Given the description of an element on the screen output the (x, y) to click on. 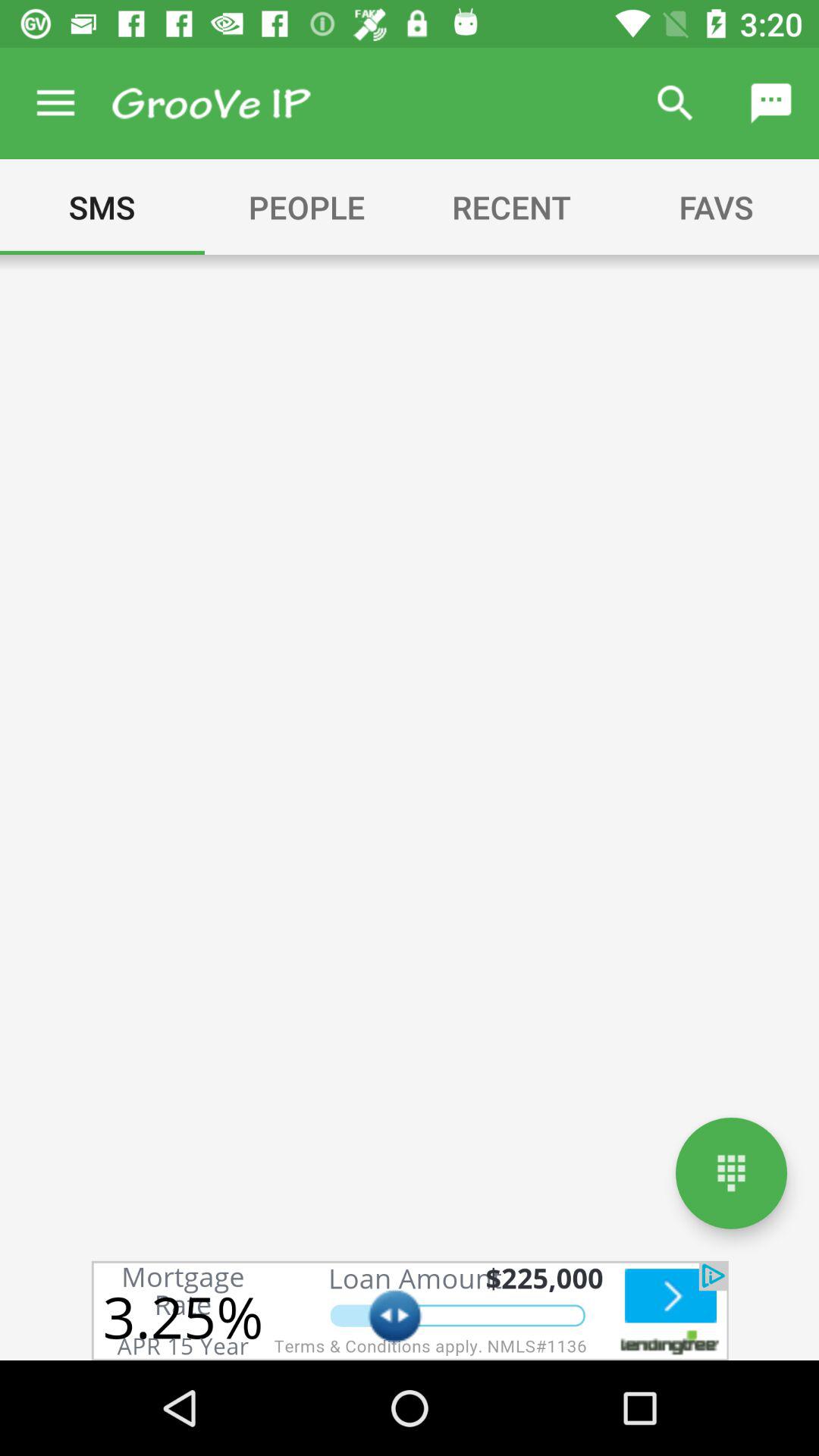
keypad (731, 1173)
